Given the description of an element on the screen output the (x, y) to click on. 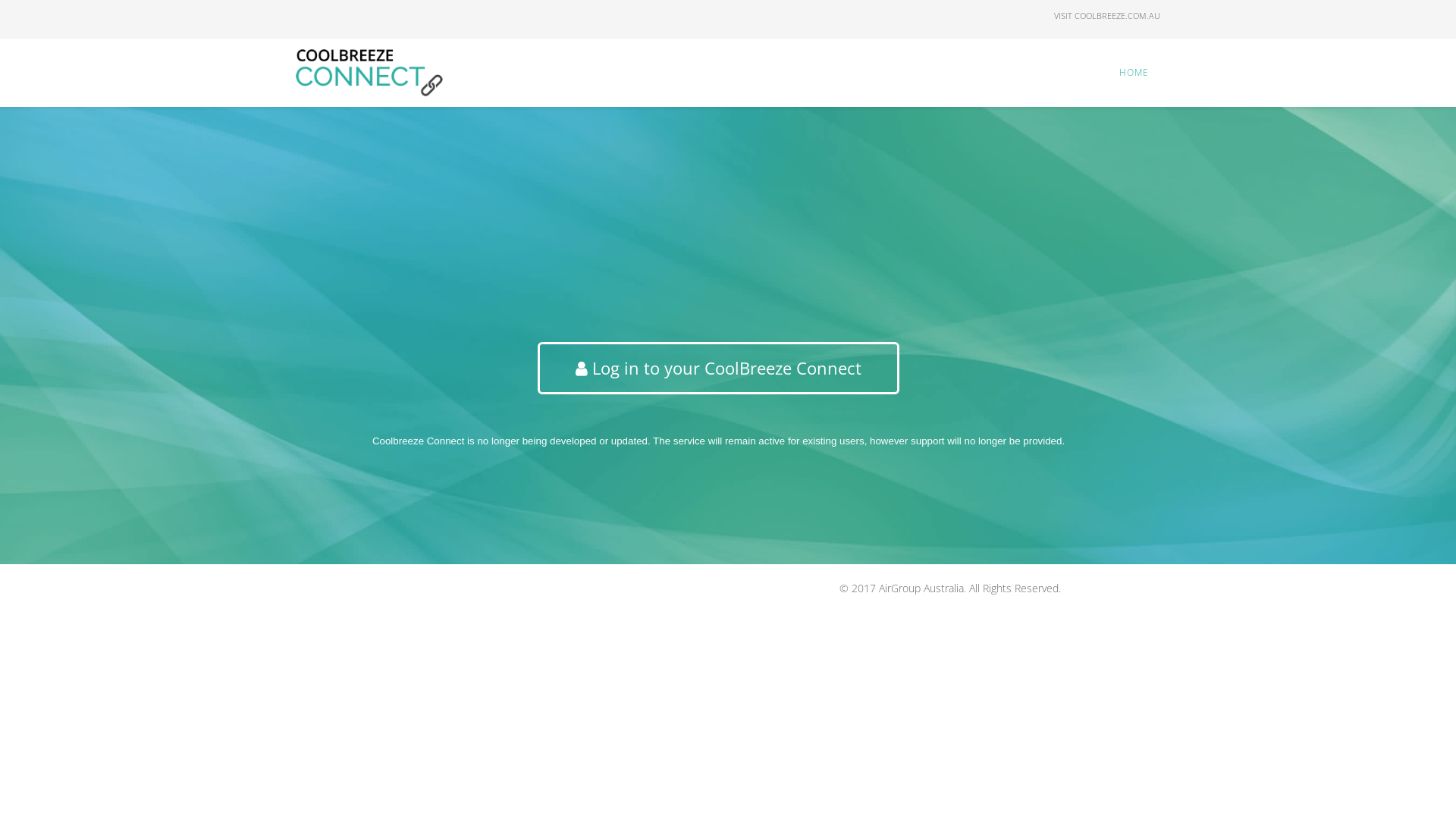
VISIT COOLBREEZE.COM.AU Element type: text (1107, 15)
HOME Element type: text (1133, 72)
Log in to your CoolBreeze Connect Element type: text (718, 368)
